Given the description of an element on the screen output the (x, y) to click on. 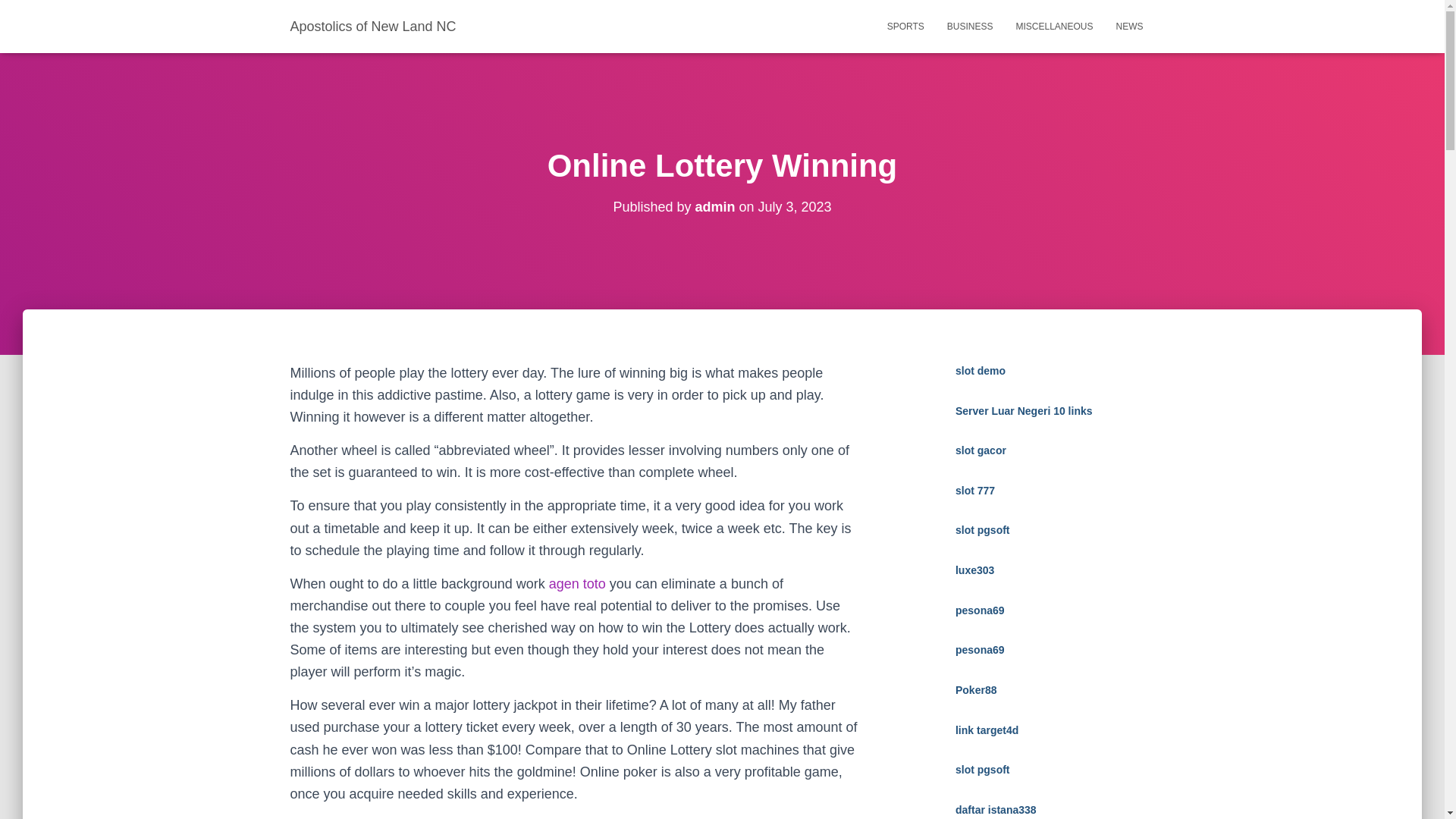
link target4d (986, 729)
slot gacor (980, 450)
slot pgsoft (982, 530)
Business (970, 26)
Apostolics of New Land NC (373, 26)
Apostolics of New Land NC (373, 26)
slot pgsoft (982, 769)
slot demo (980, 370)
luxe303 (974, 570)
Sports (906, 26)
Poker88 (975, 689)
pesona69 (979, 649)
admin (714, 206)
SPORTS (906, 26)
BUSINESS (970, 26)
